Given the description of an element on the screen output the (x, y) to click on. 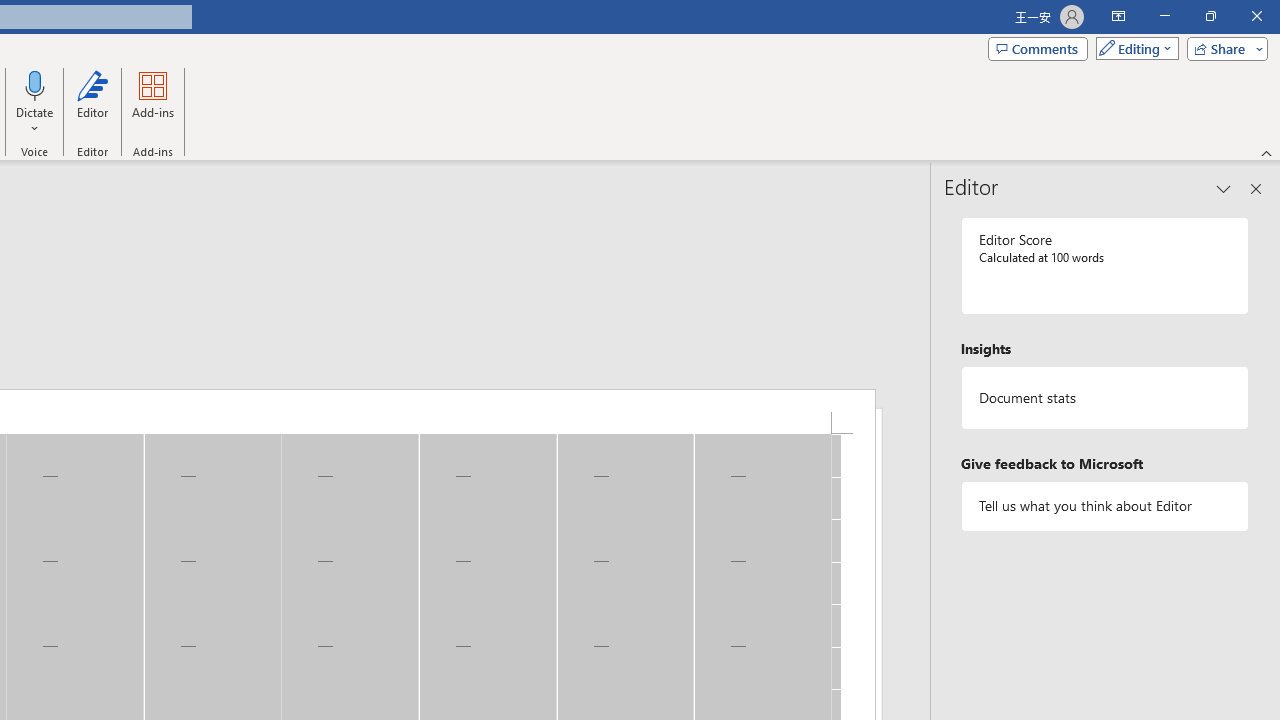
Mode (1133, 47)
Dictate (35, 102)
Editor (92, 102)
